Given the description of an element on the screen output the (x, y) to click on. 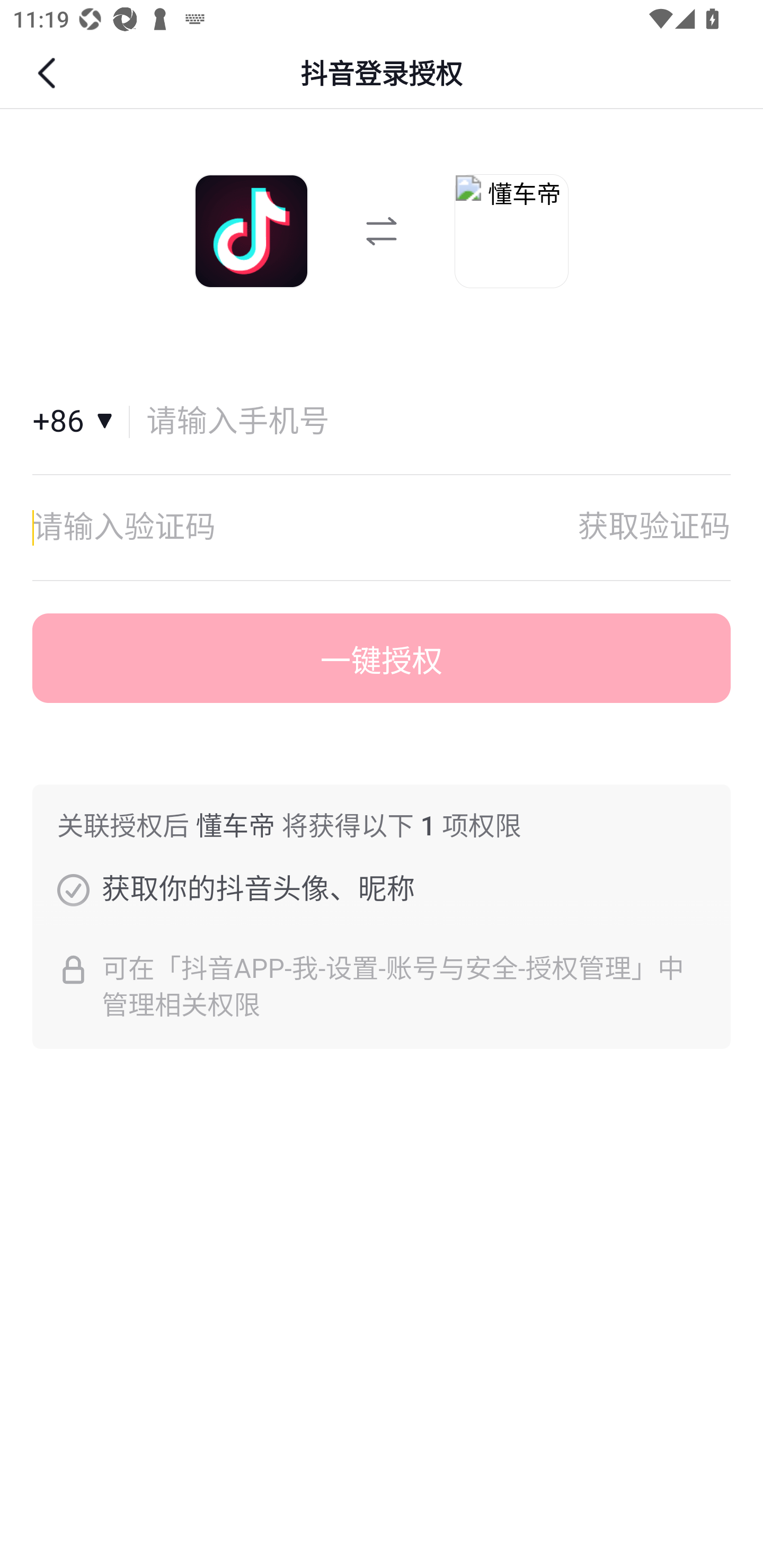
返回 (49, 72)
国家和地区+86 (81, 421)
获取验证码 (653, 526)
一键授权 (381, 658)
获取你的抖音头像、昵称 (72, 889)
